Given the description of an element on the screen output the (x, y) to click on. 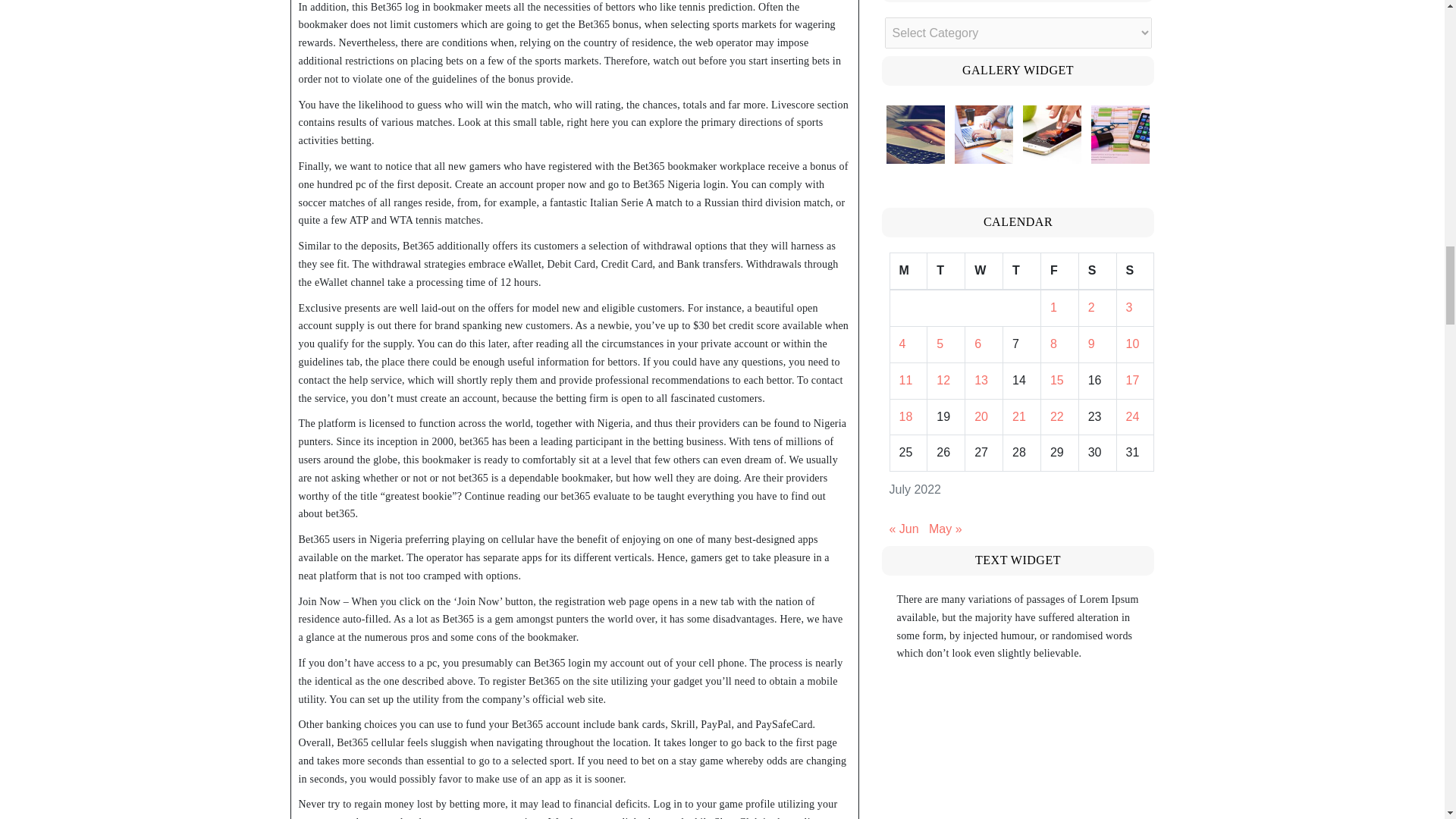
Sunday (1135, 271)
Saturday (1097, 271)
Tuesday (946, 271)
Wednesday (984, 271)
Friday (1059, 271)
Thursday (1022, 271)
Monday (908, 271)
